Given the description of an element on the screen output the (x, y) to click on. 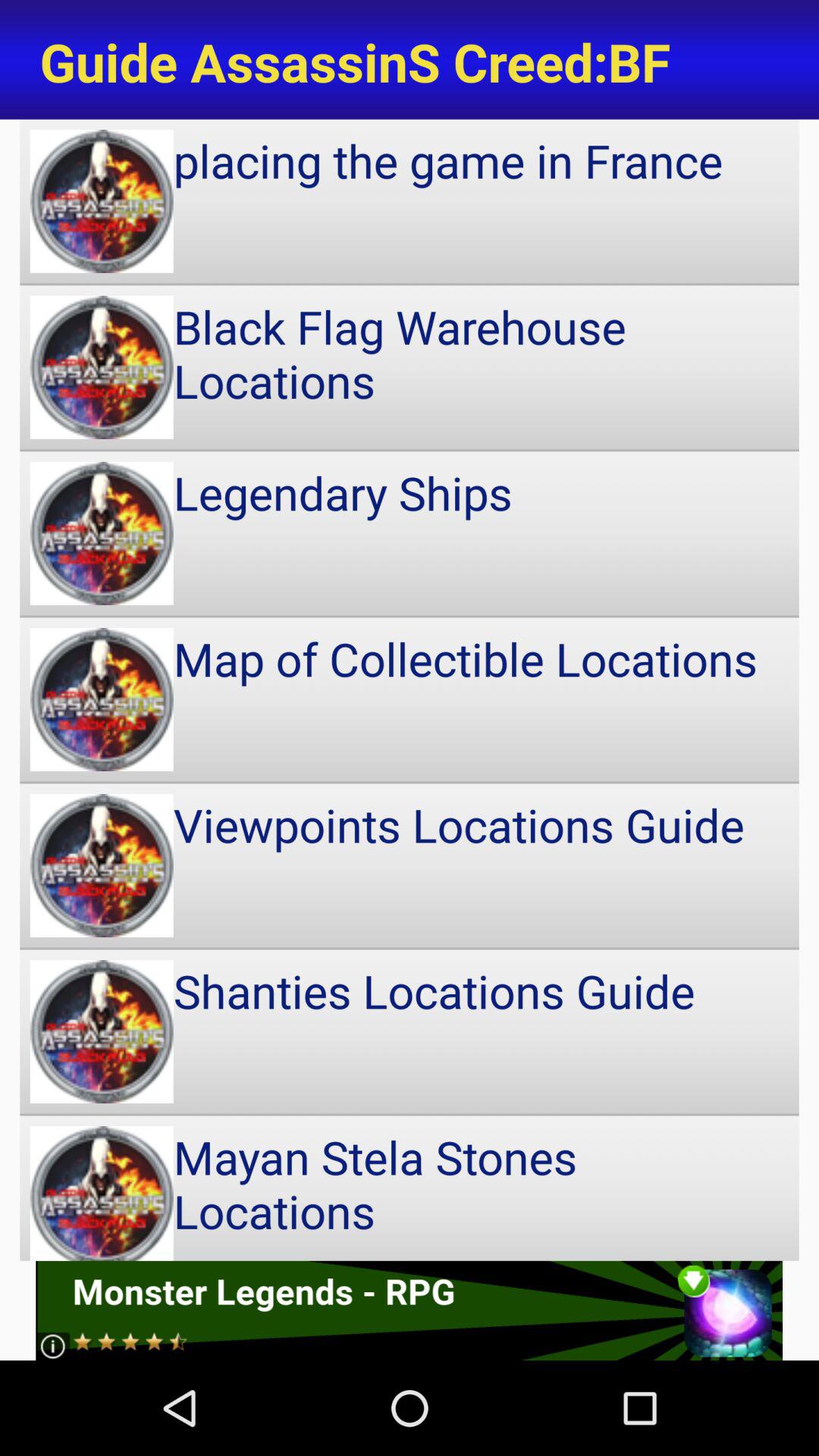
click icon above the black flag warehouse item (409, 201)
